Given the description of an element on the screen output the (x, y) to click on. 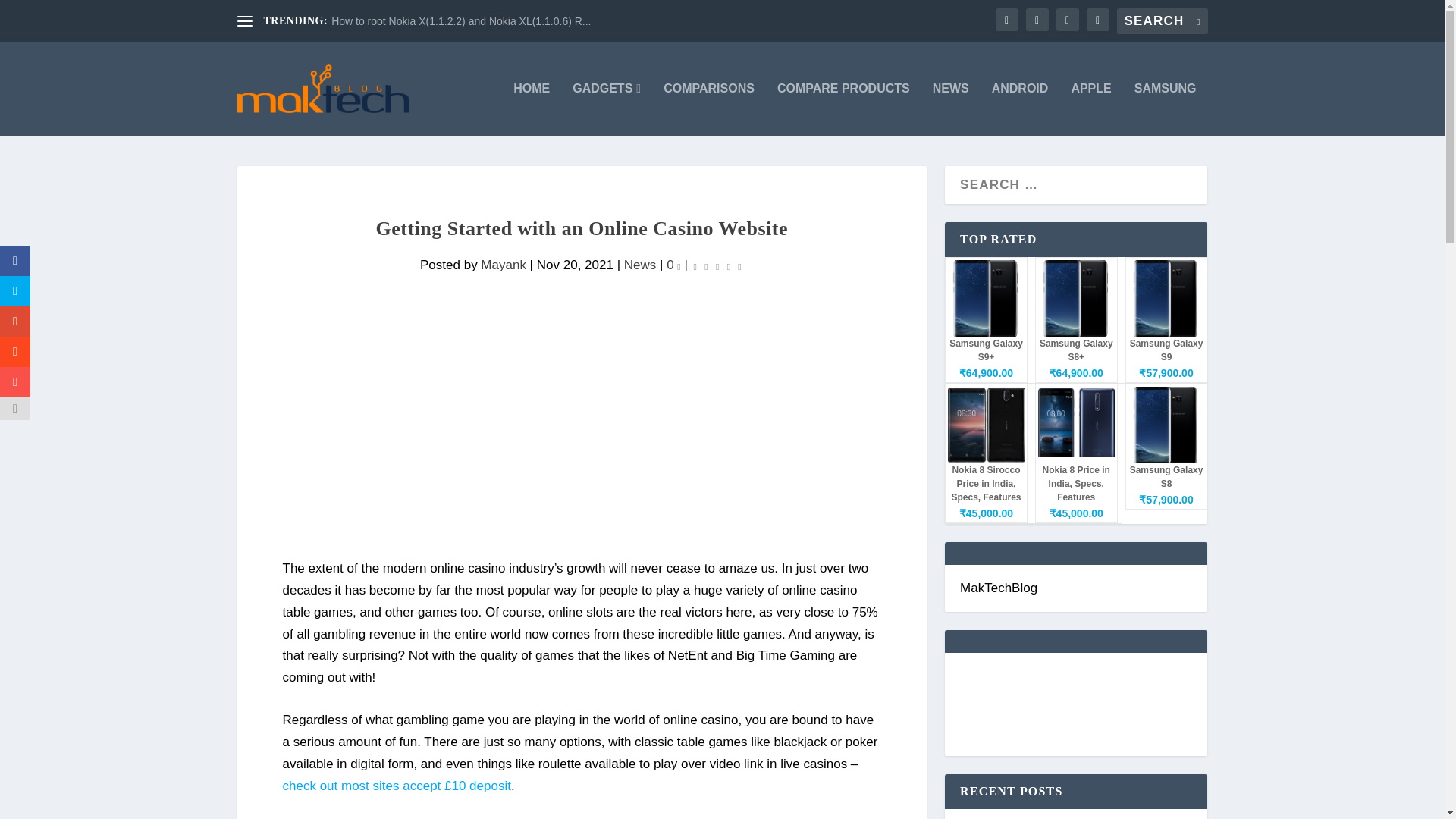
Search for: (1161, 21)
Advertisement (581, 451)
Compare (843, 108)
GADGETS (606, 108)
Posts by Mayank (502, 264)
Rating: 0.00 (717, 265)
